Given the description of an element on the screen output the (x, y) to click on. 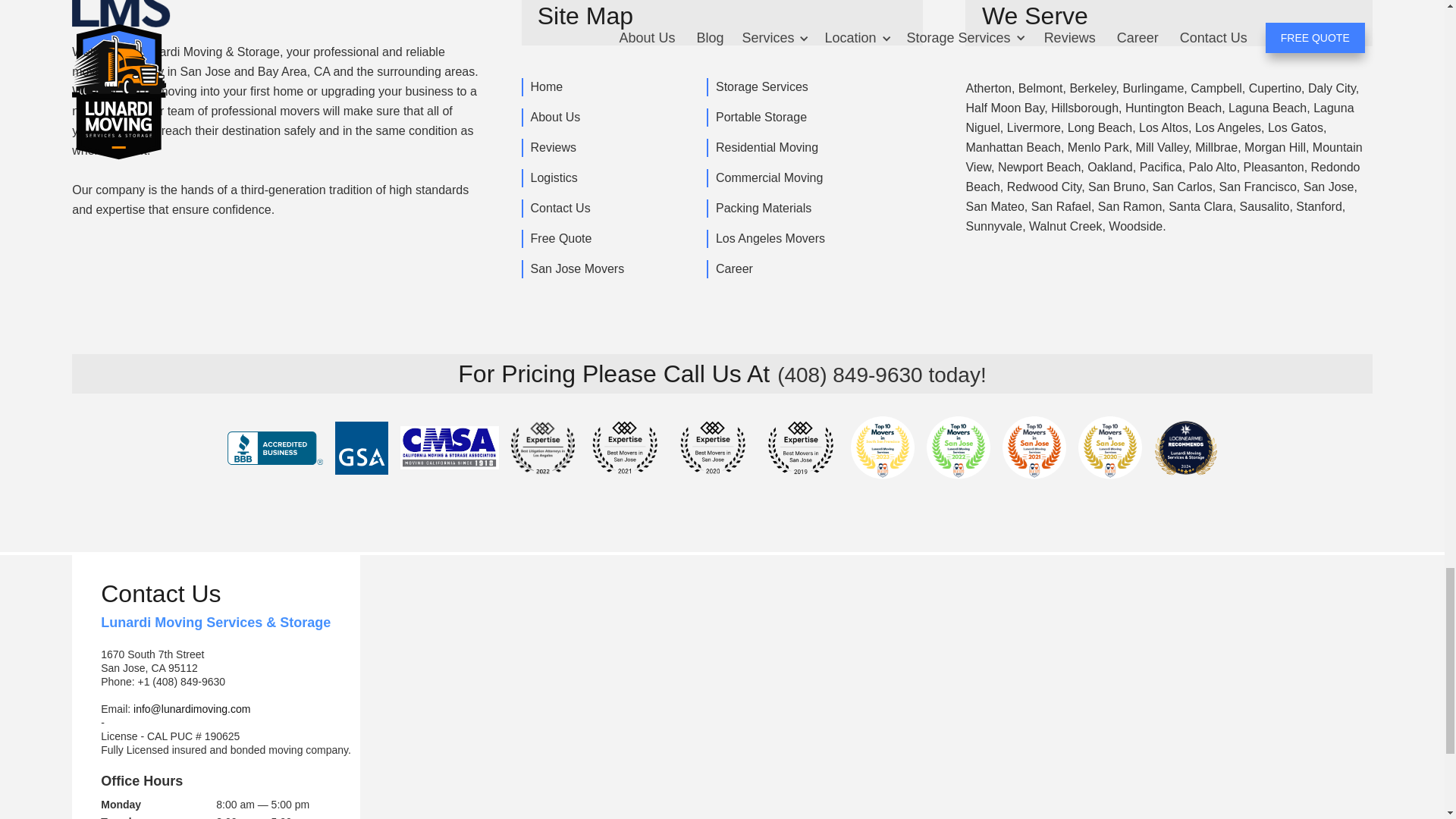
Packing Materials (762, 208)
Los Angeles Movers (769, 239)
Reviews (552, 147)
Free Quote (560, 239)
Logistics (553, 177)
Commercial Moving (767, 177)
Storage Services (760, 86)
Home (545, 86)
San Jose Movers (576, 269)
Portable Storage (759, 117)
About Us (554, 117)
Residential Moving (765, 147)
Career (733, 269)
Contact Us (559, 208)
